Given the description of an element on the screen output the (x, y) to click on. 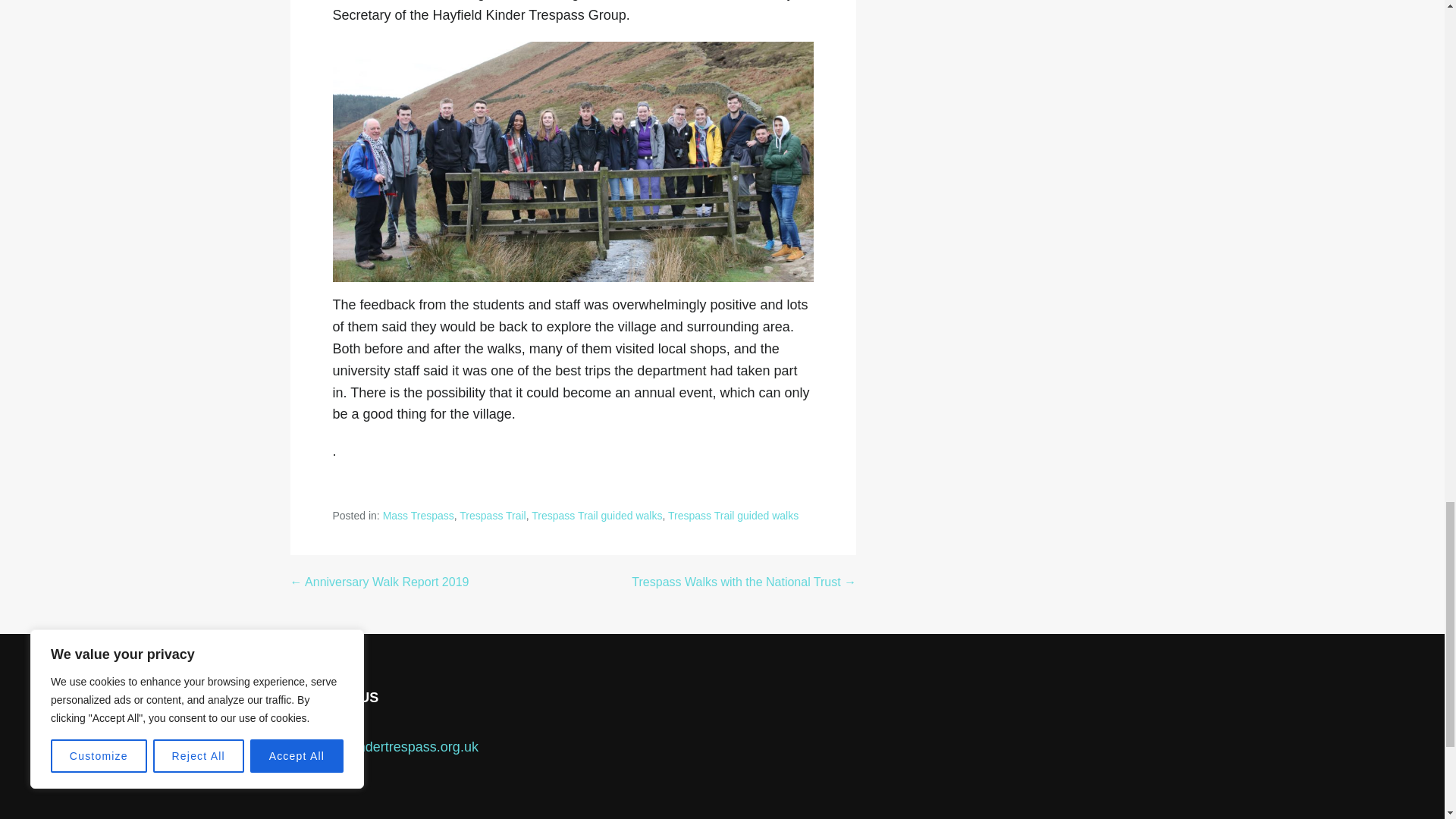
Mass Trespass (418, 515)
Trespass Trail (492, 515)
Trespass Trail guided walks (732, 515)
Trespass Trail guided walks (596, 515)
